Given the description of an element on the screen output the (x, y) to click on. 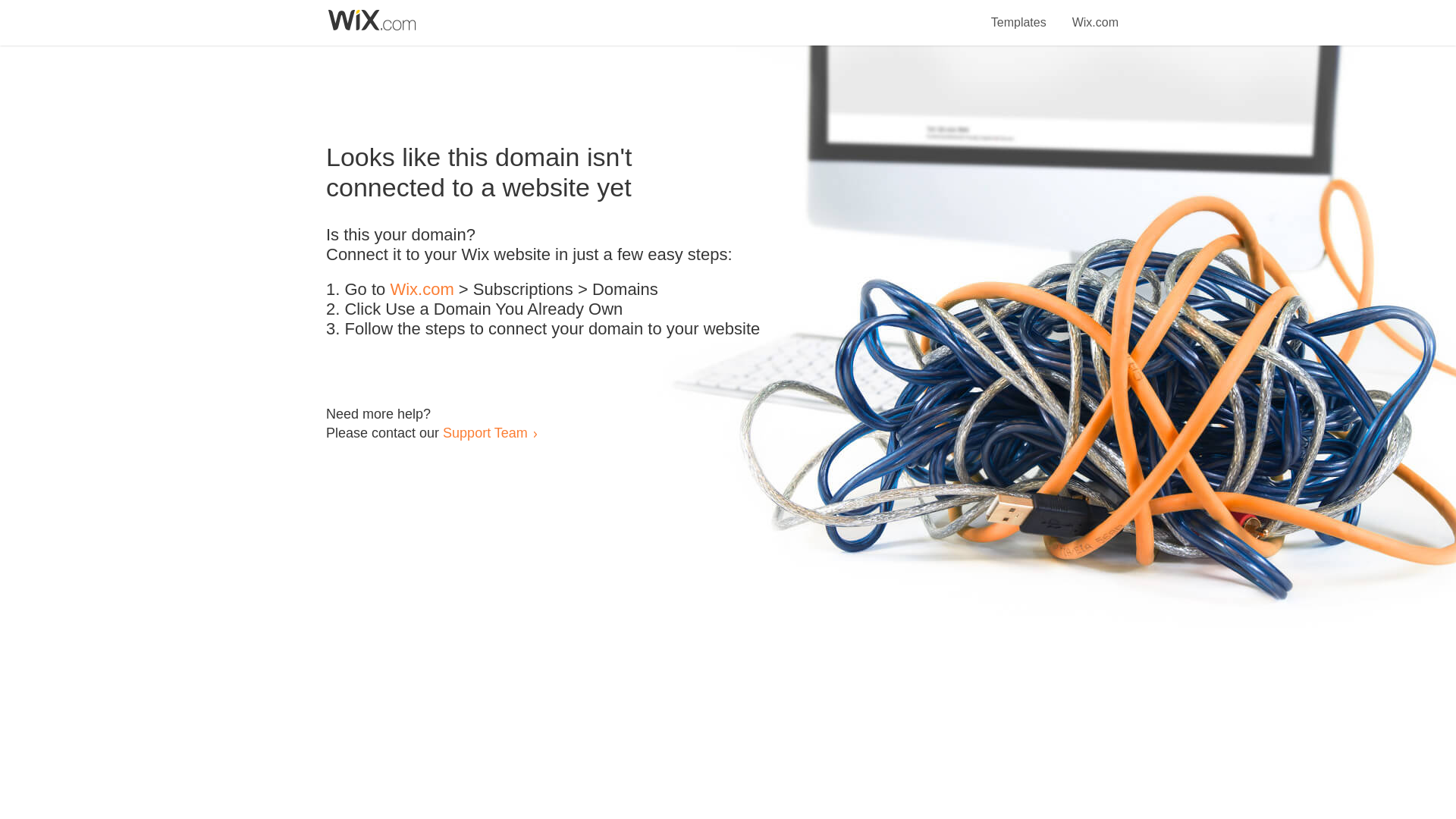
Templates (1018, 14)
Wix.com (1095, 14)
Support Team (484, 432)
Wix.com (421, 289)
